Given the description of an element on the screen output the (x, y) to click on. 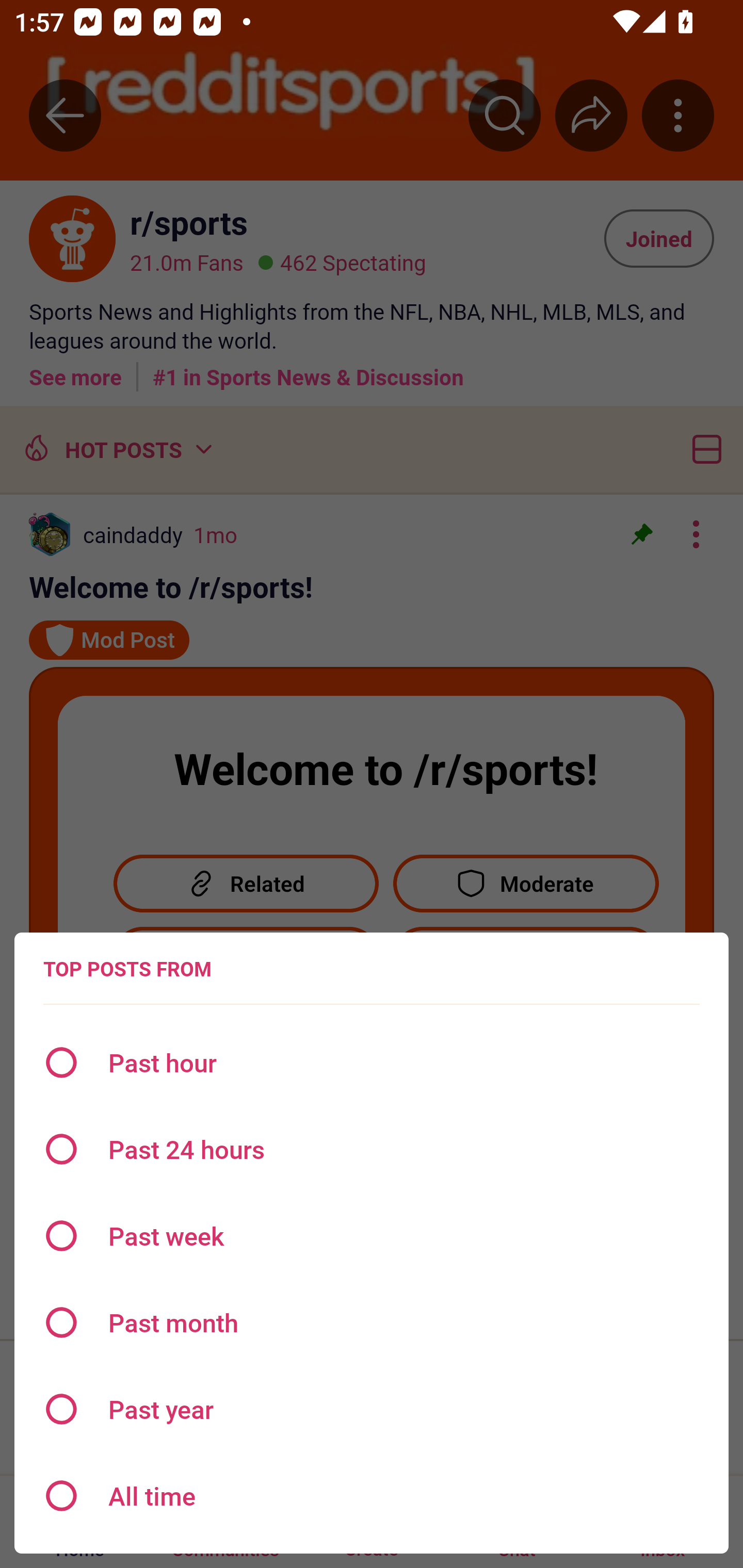
TOP POSTS FROM (127, 968)
Past hour (371, 1062)
Past 24 hours (371, 1149)
Past week (371, 1236)
Past month (371, 1322)
Past year (371, 1408)
All time (371, 1495)
